Given the description of an element on the screen output the (x, y) to click on. 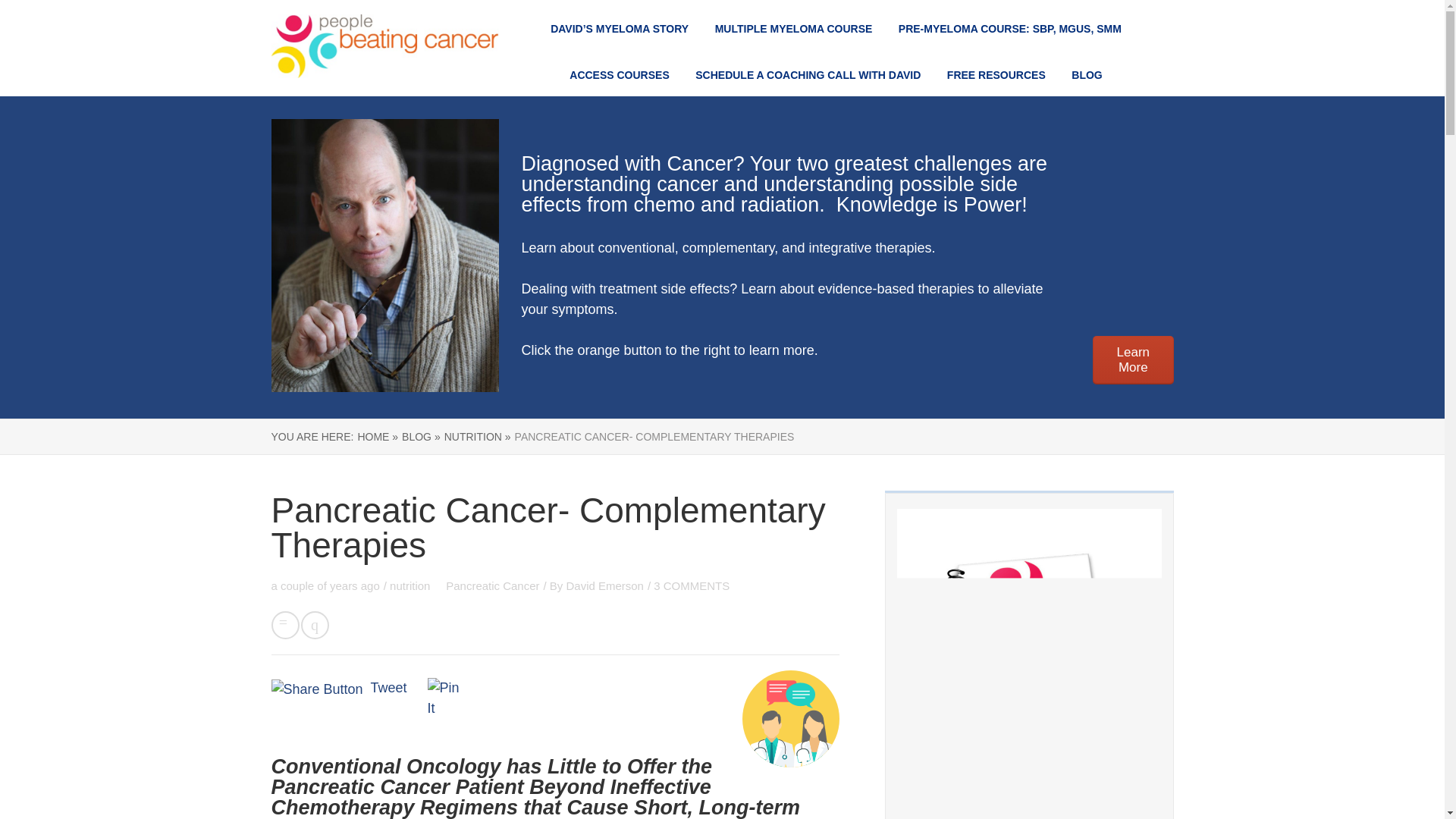
Tweet (389, 687)
3 COMMENTS (691, 585)
PRE-MYELOMA COURSE: SBP, MGUS, SMM (1009, 28)
Pin It (446, 698)
nutrition (411, 585)
SCHEDULE A COACHING CALL WITH DAVID (807, 74)
BLOG (1086, 74)
Learn More (1133, 359)
MULTIPLE MYELOMA COURSE (793, 28)
ACCESS COURSES (618, 74)
001-doctor-1 (791, 718)
Pancreatic Cancer (491, 585)
FREE RESOURCES (996, 74)
David Emerson (604, 585)
